Given the description of an element on the screen output the (x, y) to click on. 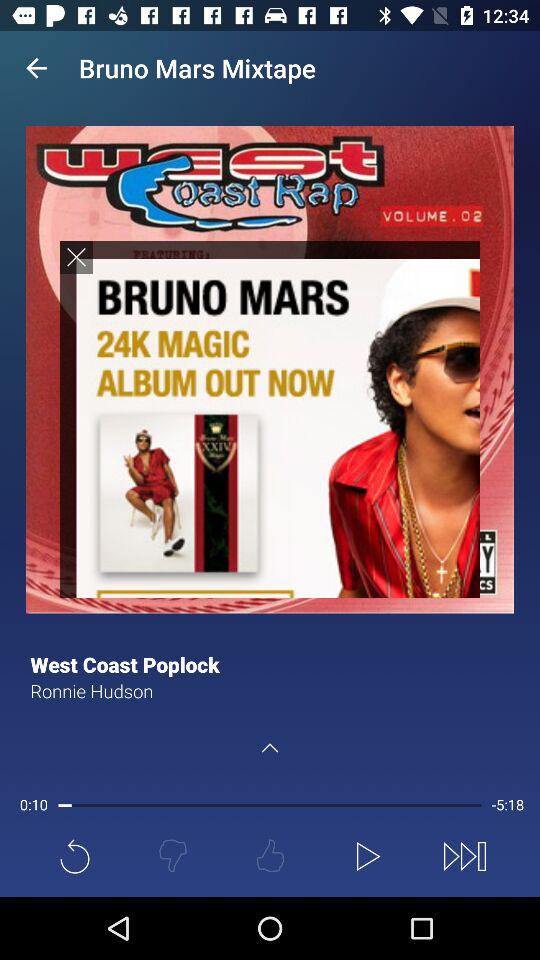
audios button (270, 418)
